Given the description of an element on the screen output the (x, y) to click on. 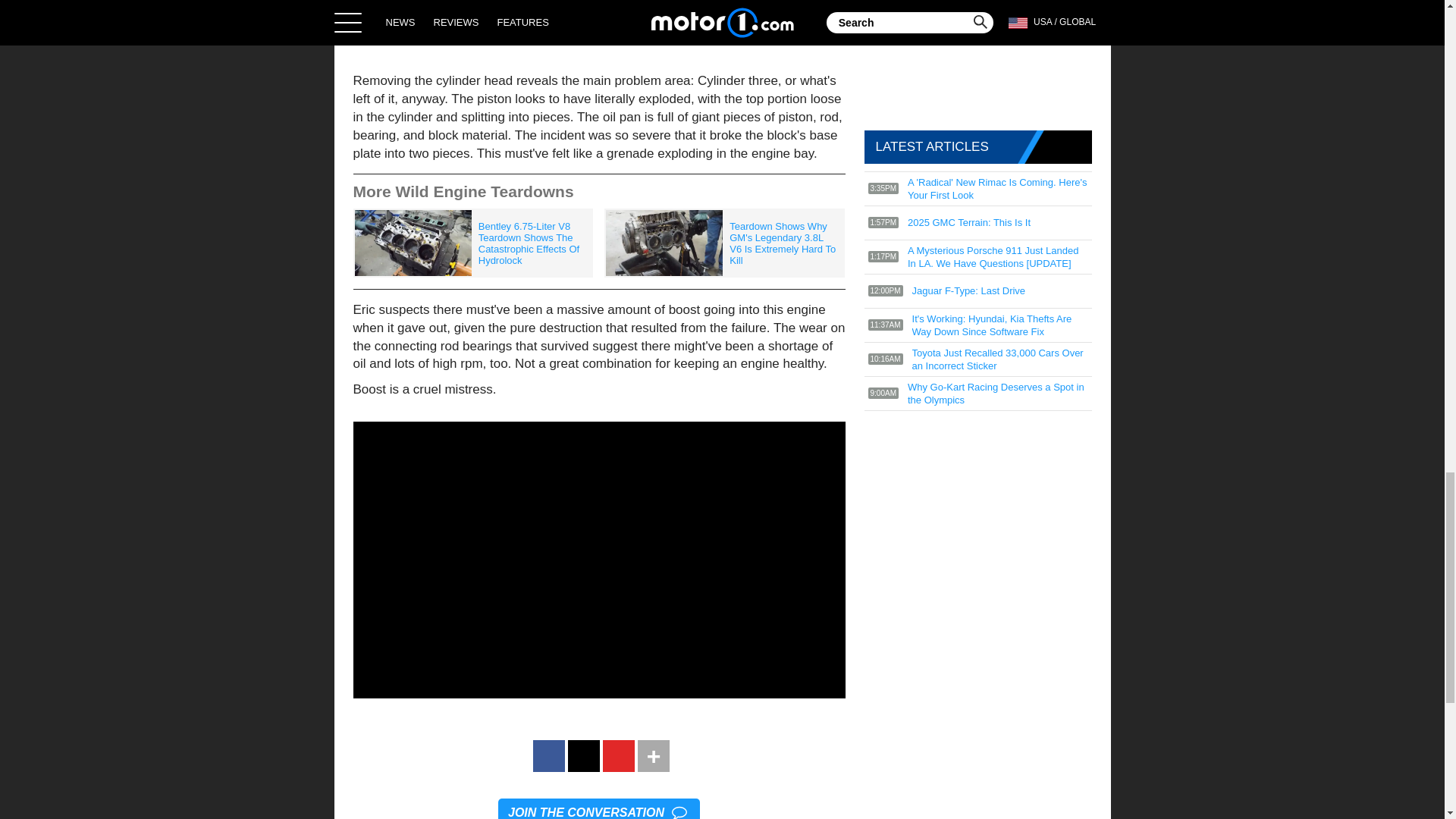
JOIN THE CONVERSATION (598, 808)
